Given the description of an element on the screen output the (x, y) to click on. 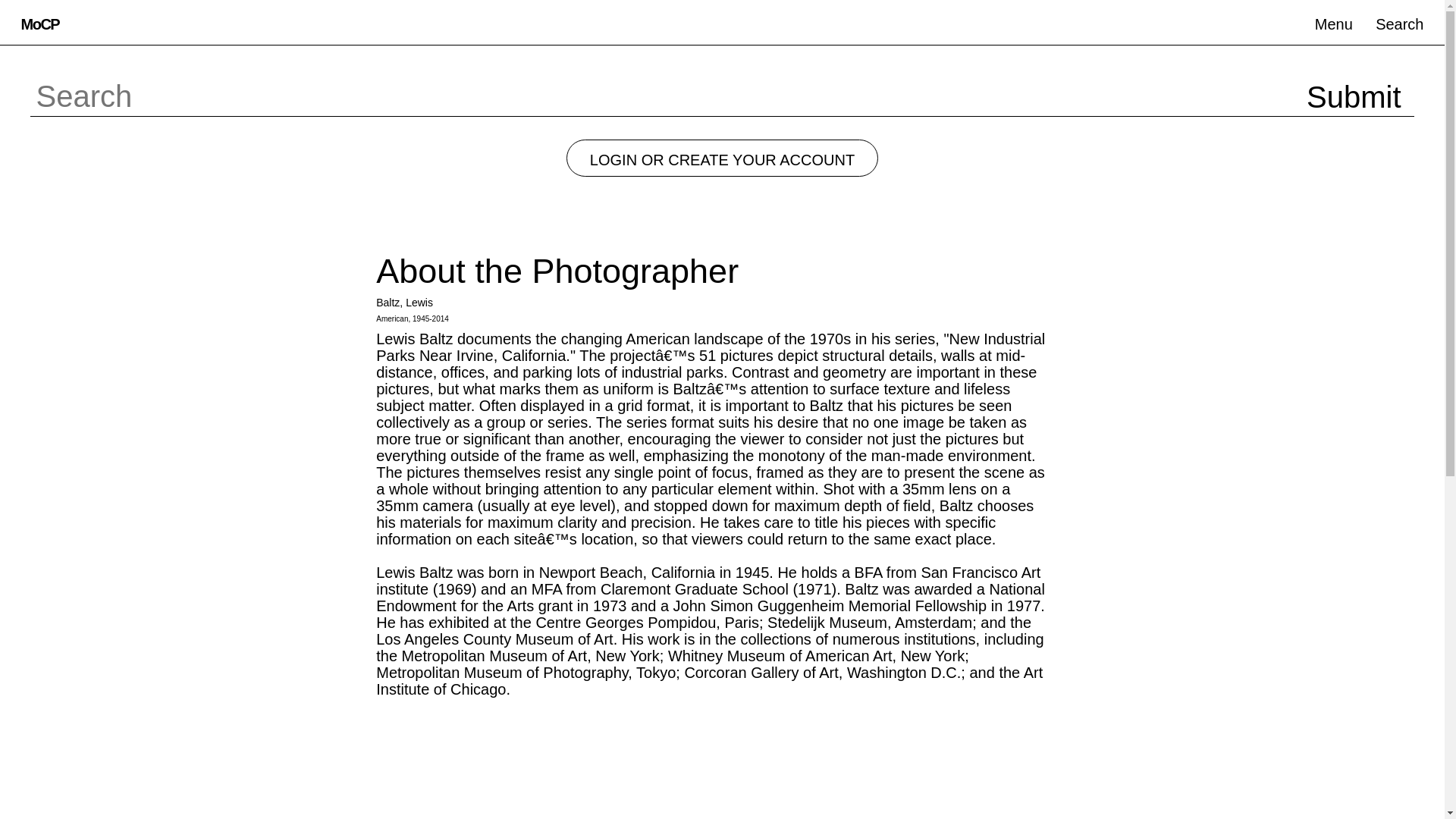
MoCP (39, 22)
LOGIN OR CREATE YOUR ACCOUNT (721, 157)
Menu (1333, 22)
Submit (1353, 95)
Search (1399, 22)
Recover (75, 176)
Skip to content (18, 13)
